Given the description of an element on the screen output the (x, y) to click on. 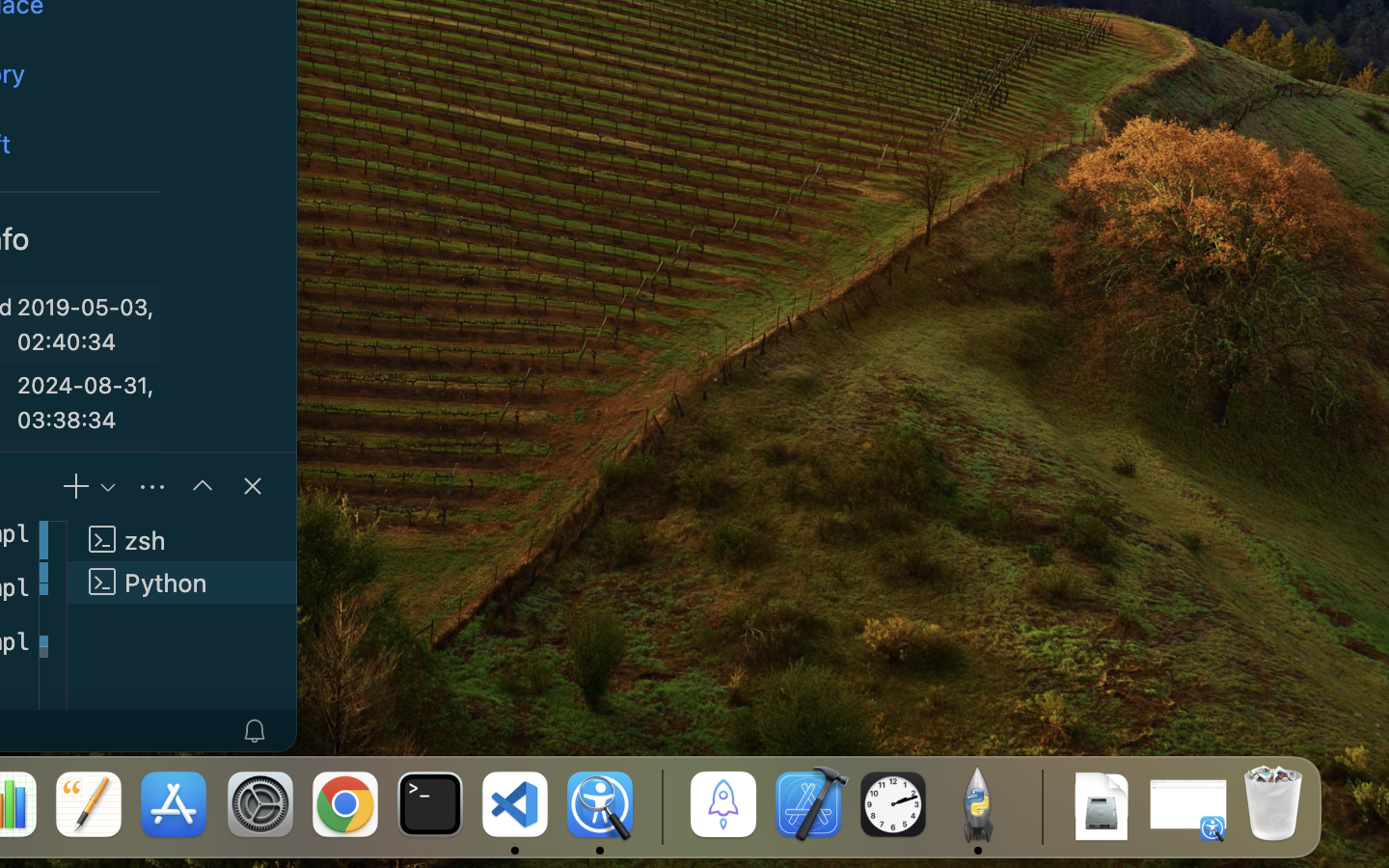
2019-05-03, 02:40:34 Element type: AXStaticText (85, 324)
Python  Element type: AXGroup (182, 582)
